Given the description of an element on the screen output the (x, y) to click on. 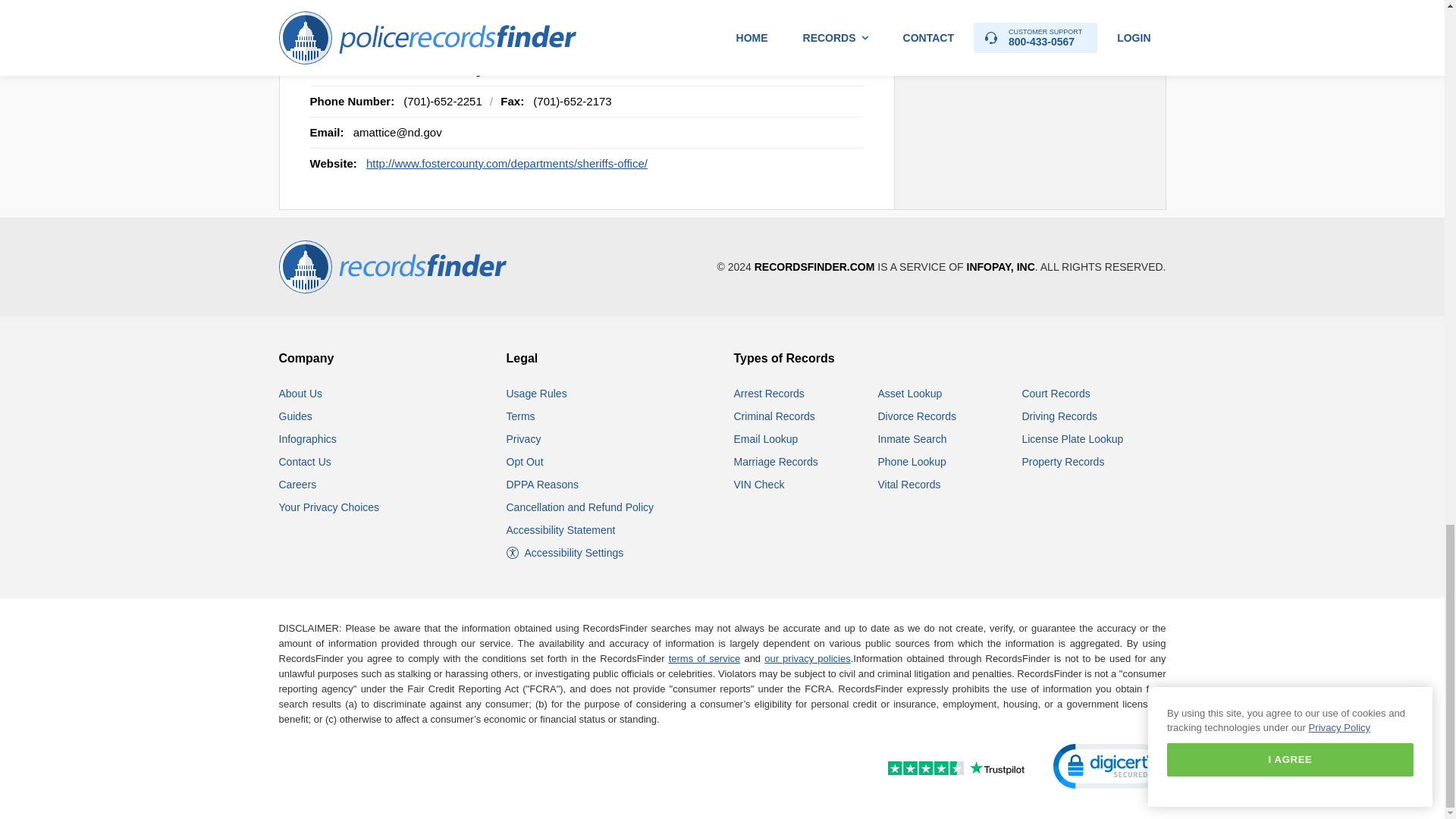
About RecordsFinder.com (301, 393)
Careers at RecordsFinder.com (298, 484)
Contact RecordsFinder.com (305, 461)
Guides and How tos (296, 416)
RecordsFinder.com DPPA Reasons (542, 484)
View Public Records Infographics and Statistics (307, 439)
RecordsFinder.com Usage Rules (536, 393)
RecordsFinder.com Cancellation and Refund Policy (579, 507)
RecordsFinder.com Accessibility Statement (560, 530)
RecordsFinder.com Privacy Policy (523, 439)
